Given the description of an element on the screen output the (x, y) to click on. 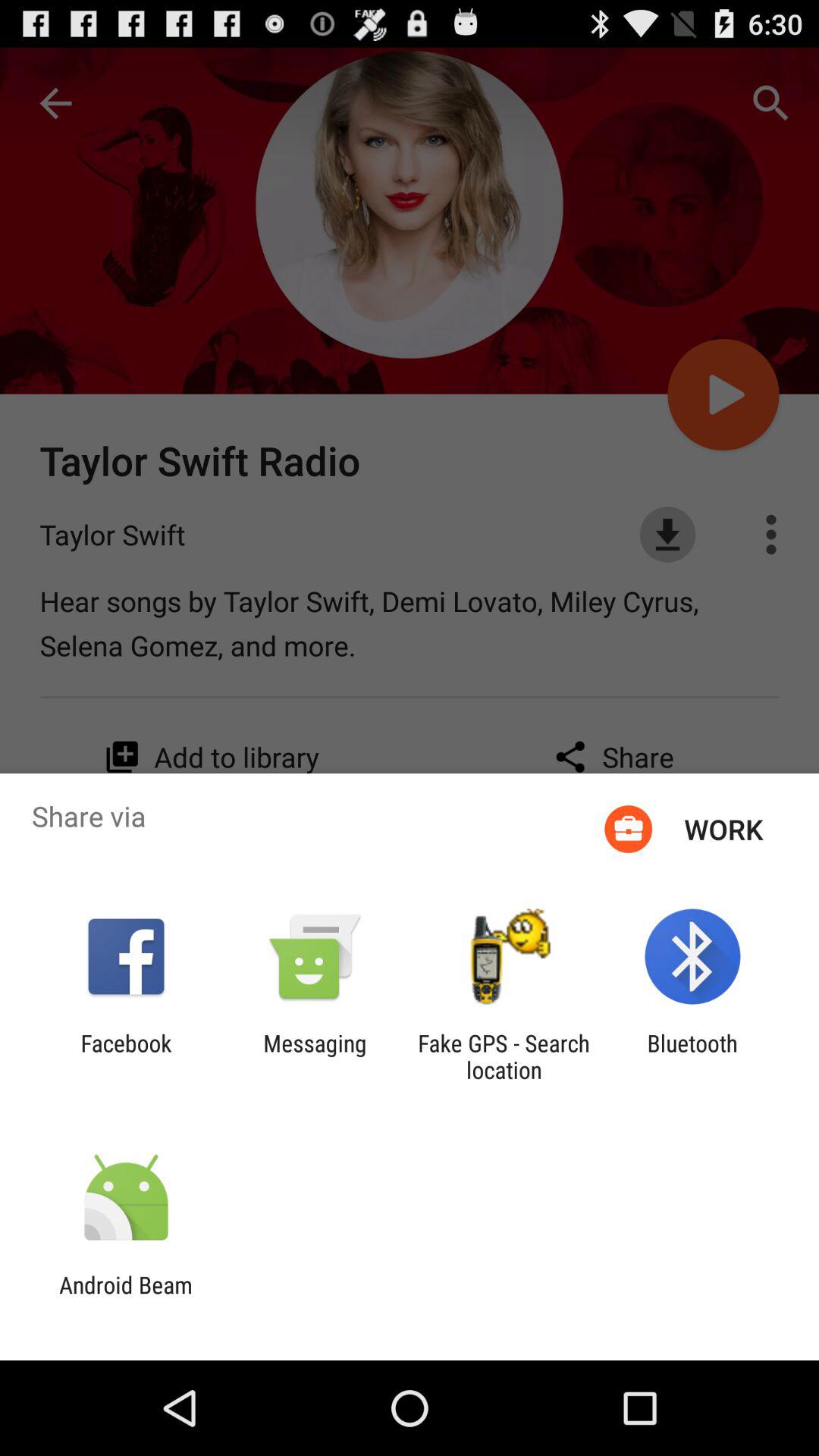
jump until the bluetooth item (692, 1056)
